Given the description of an element on the screen output the (x, y) to click on. 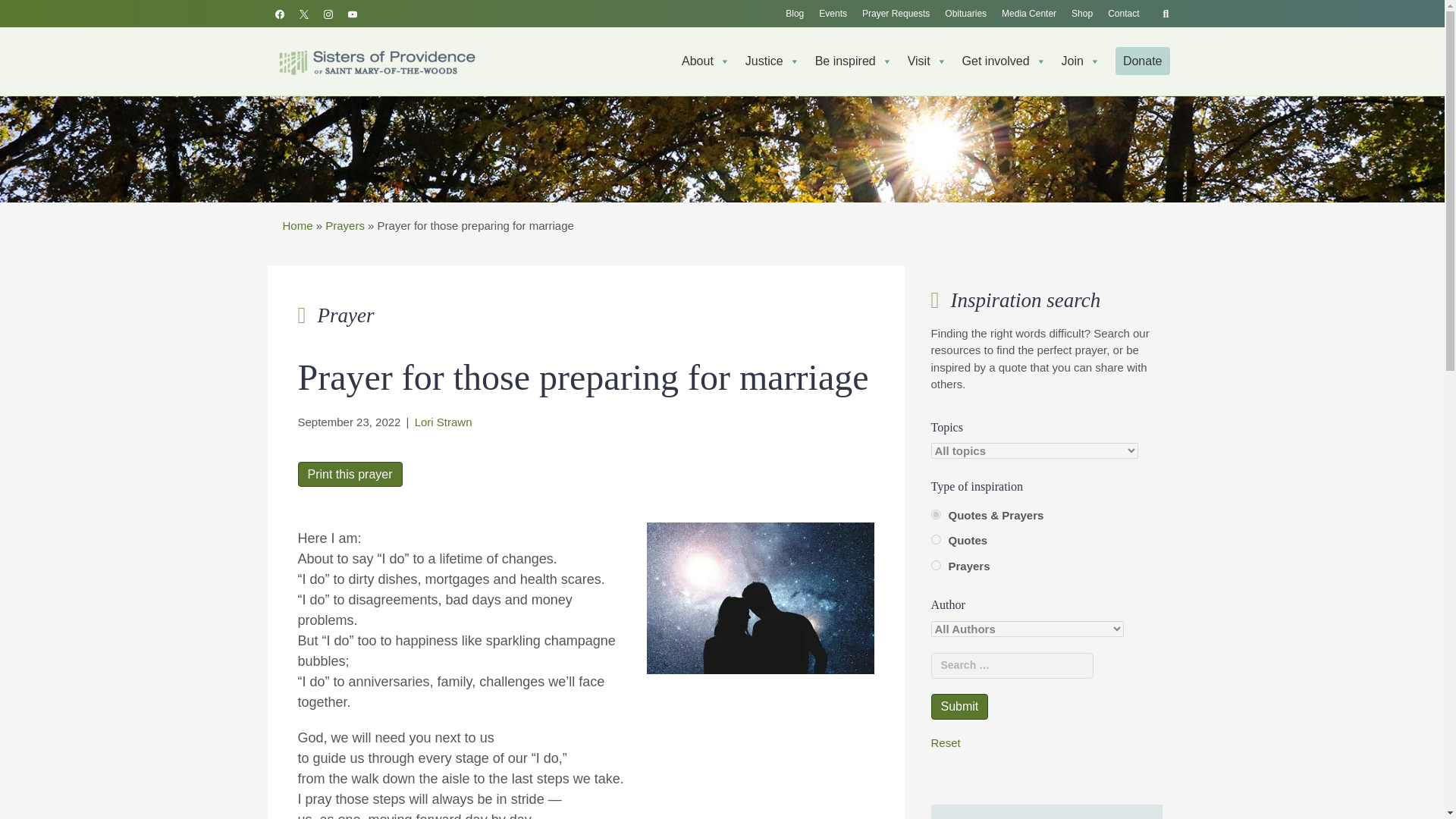
Prayer Requests (895, 13)
Events (832, 13)
Home (375, 61)
Shop (1082, 13)
About (706, 61)
Submit (959, 706)
Blog (793, 13)
Contact (1123, 13)
Obituaries (965, 13)
Search (11, 12)
